Given the description of an element on the screen output the (x, y) to click on. 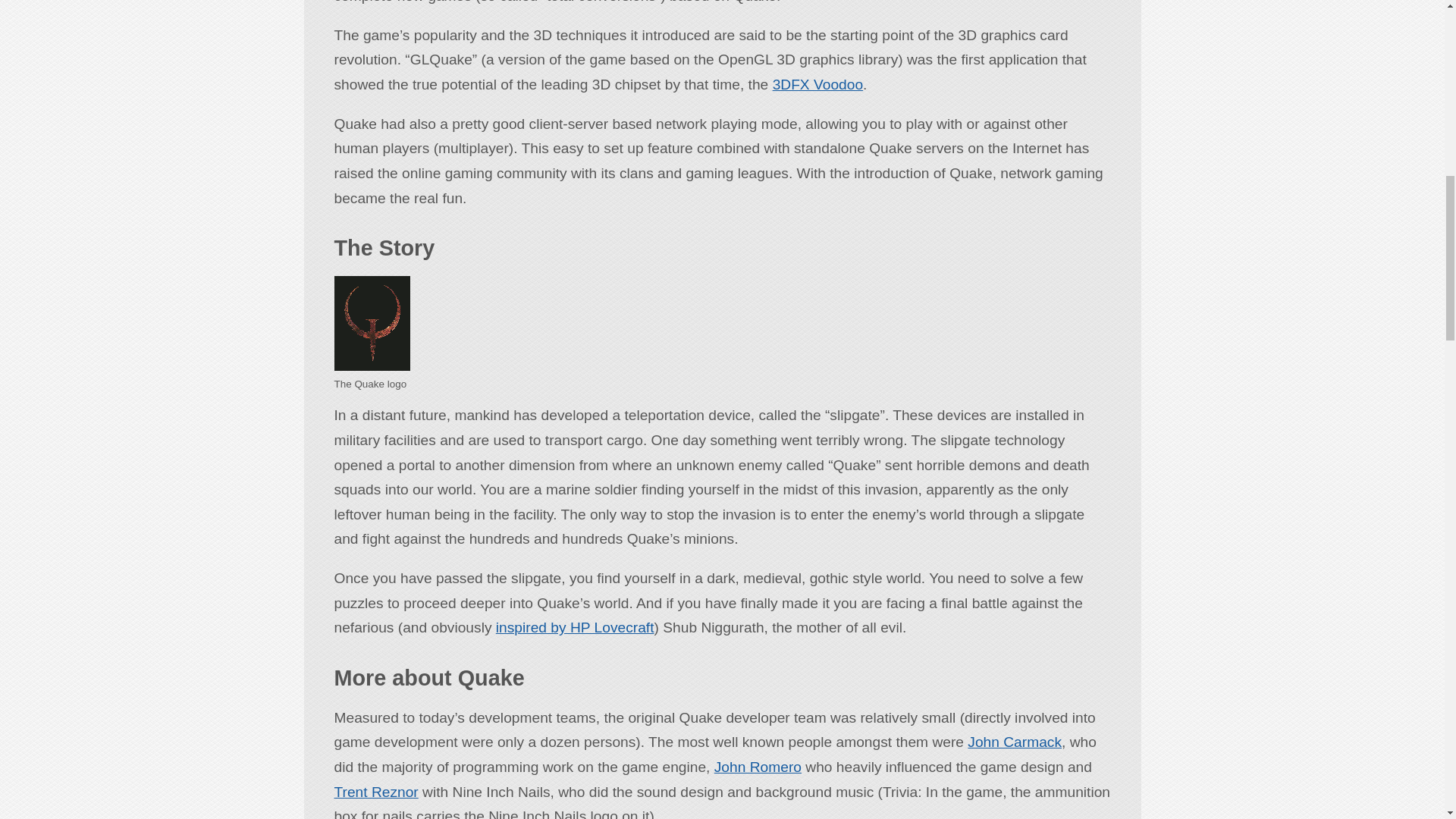
Trent Reznor (375, 791)
John Carmack (1014, 741)
inspired by HP Lovecraft (574, 627)
John Romero (758, 766)
3DFX Voodoo (818, 84)
